Given the description of an element on the screen output the (x, y) to click on. 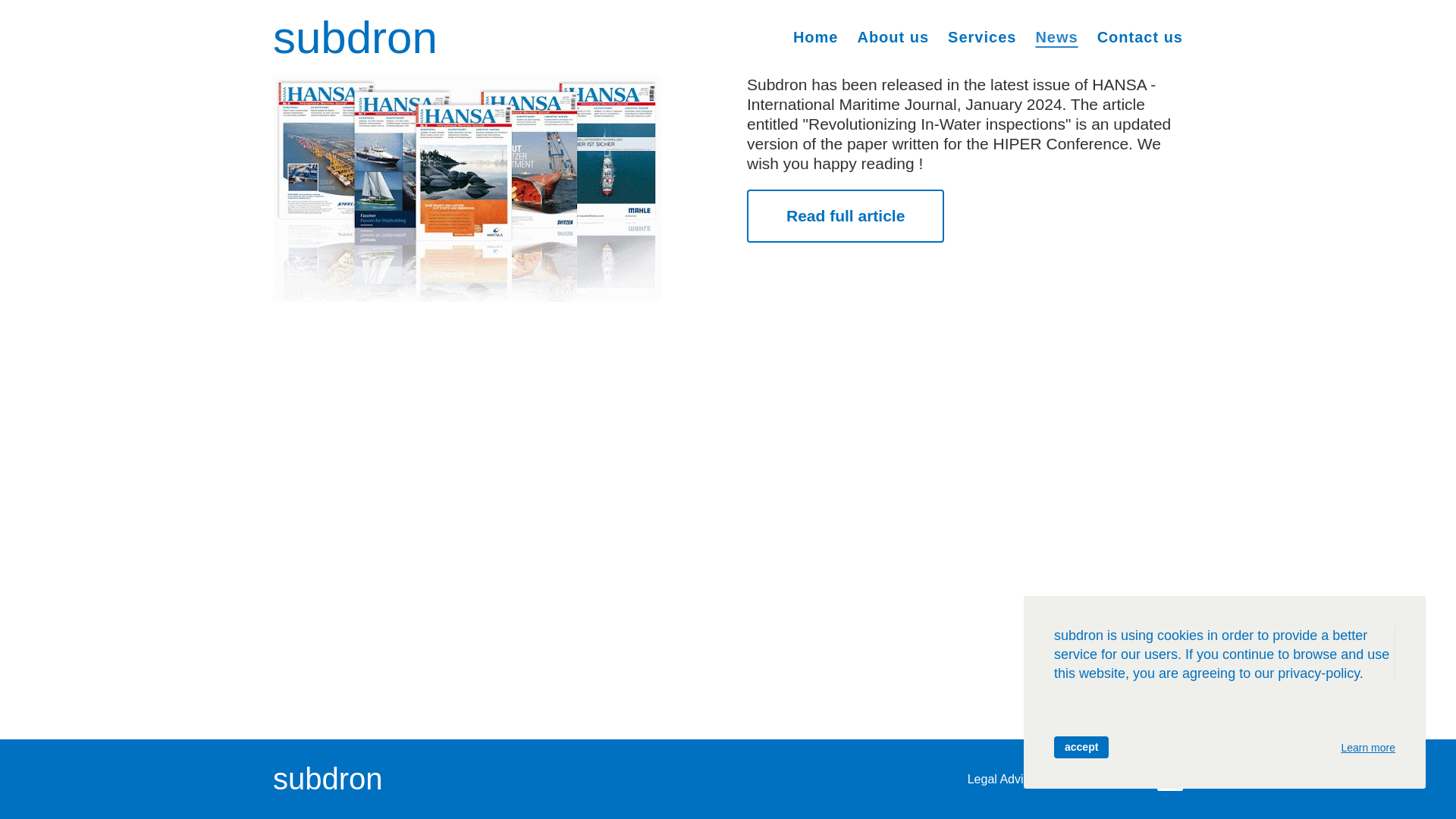
Learn more (1367, 747)
Privacy Policy (1096, 778)
subdron (355, 37)
Home (815, 36)
Legal Advice (1002, 778)
About us (892, 36)
Contact us (1139, 36)
Services (981, 36)
subdron (327, 779)
News (1056, 36)
